Given the description of an element on the screen output the (x, y) to click on. 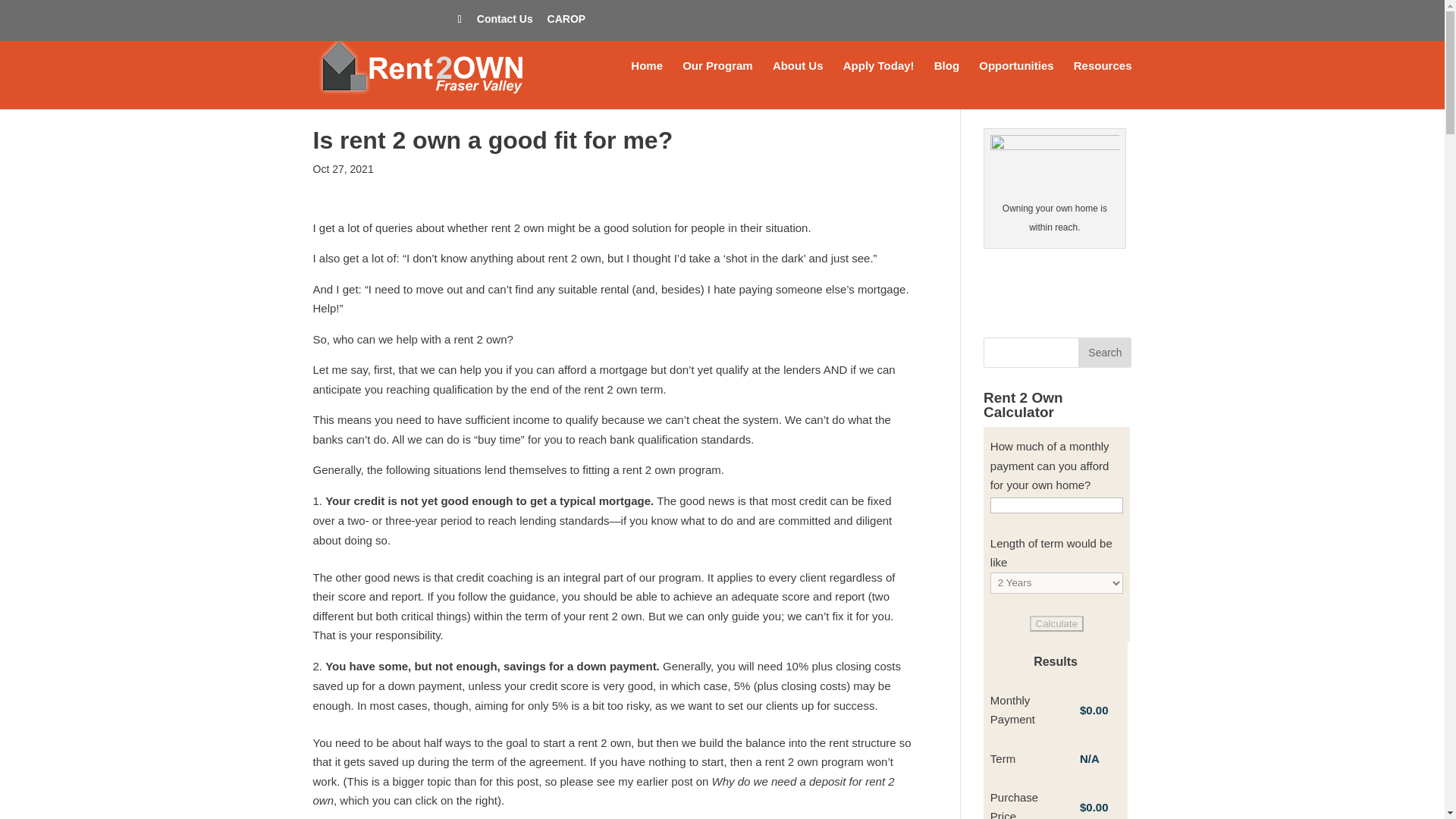
Contact Us (504, 22)
Search (1104, 352)
Search (1104, 352)
CAROP (566, 22)
Calculate (1056, 623)
About Us (798, 84)
Our Program (717, 84)
Apply Today! (878, 84)
Resources (1103, 84)
Calculate (1056, 623)
